Given the description of an element on the screen output the (x, y) to click on. 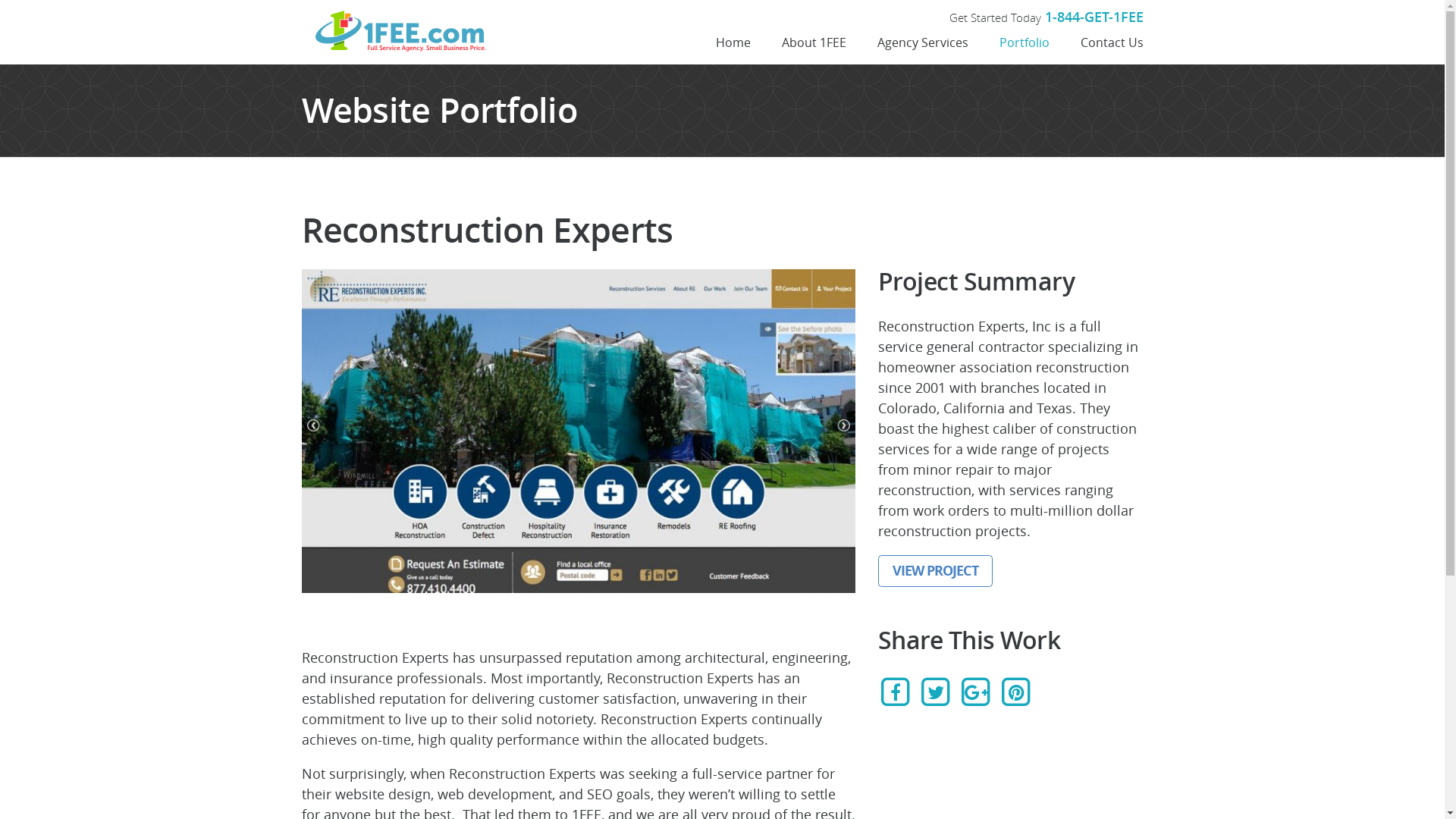
About 1FEE Element type: text (813, 42)
Contact Us Element type: text (1104, 42)
Portfolio Element type: text (1024, 42)
VIEW PROJECT Element type: text (935, 571)
Agency Services Element type: text (921, 42)
Home Element type: text (733, 42)
1-844-GET-1FEE Element type: text (1093, 16)
1FEE.com Element type: text (407, 31)
